Given the description of an element on the screen output the (x, y) to click on. 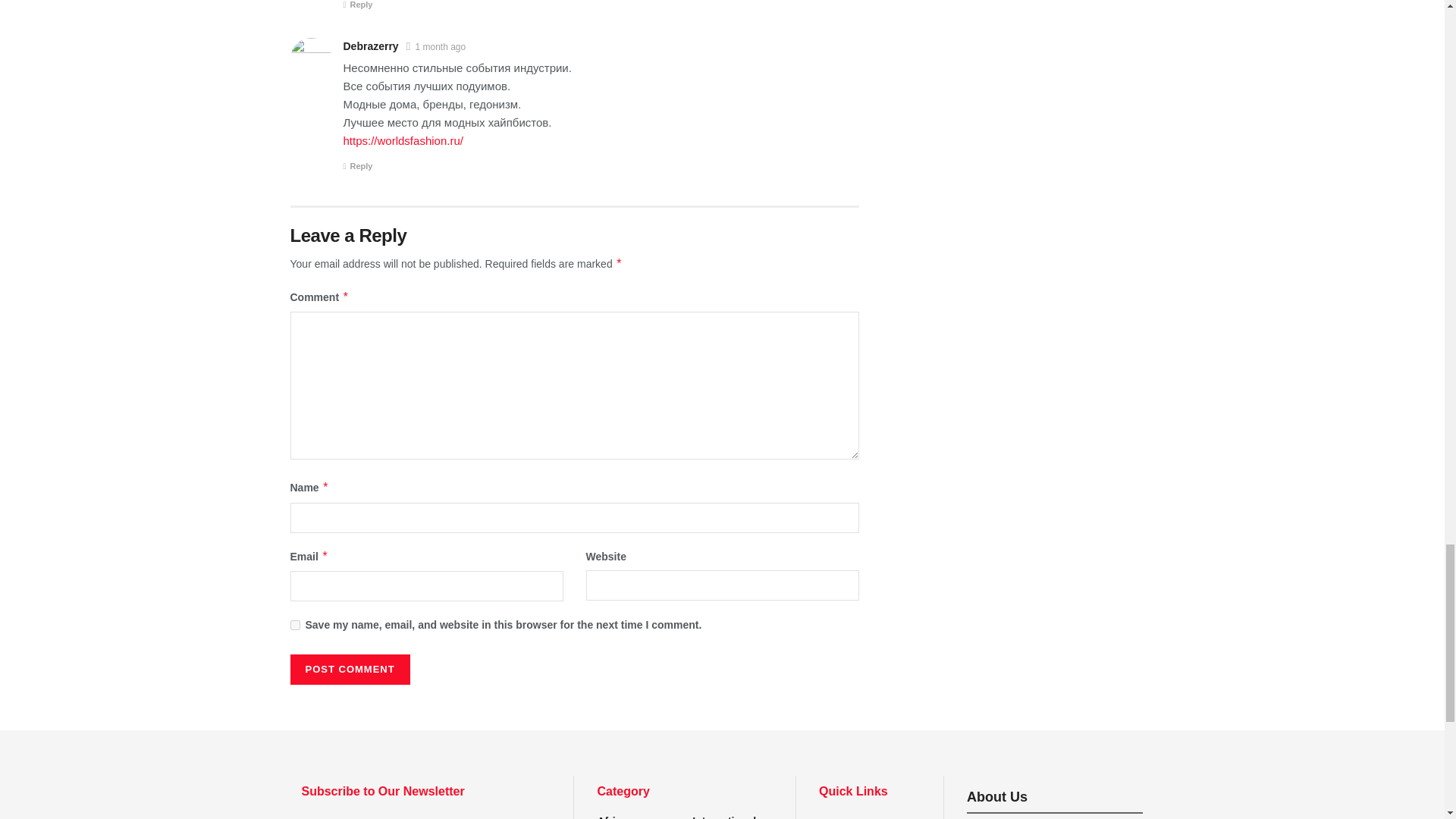
Post Comment (349, 669)
yes (294, 624)
